Given the description of an element on the screen output the (x, y) to click on. 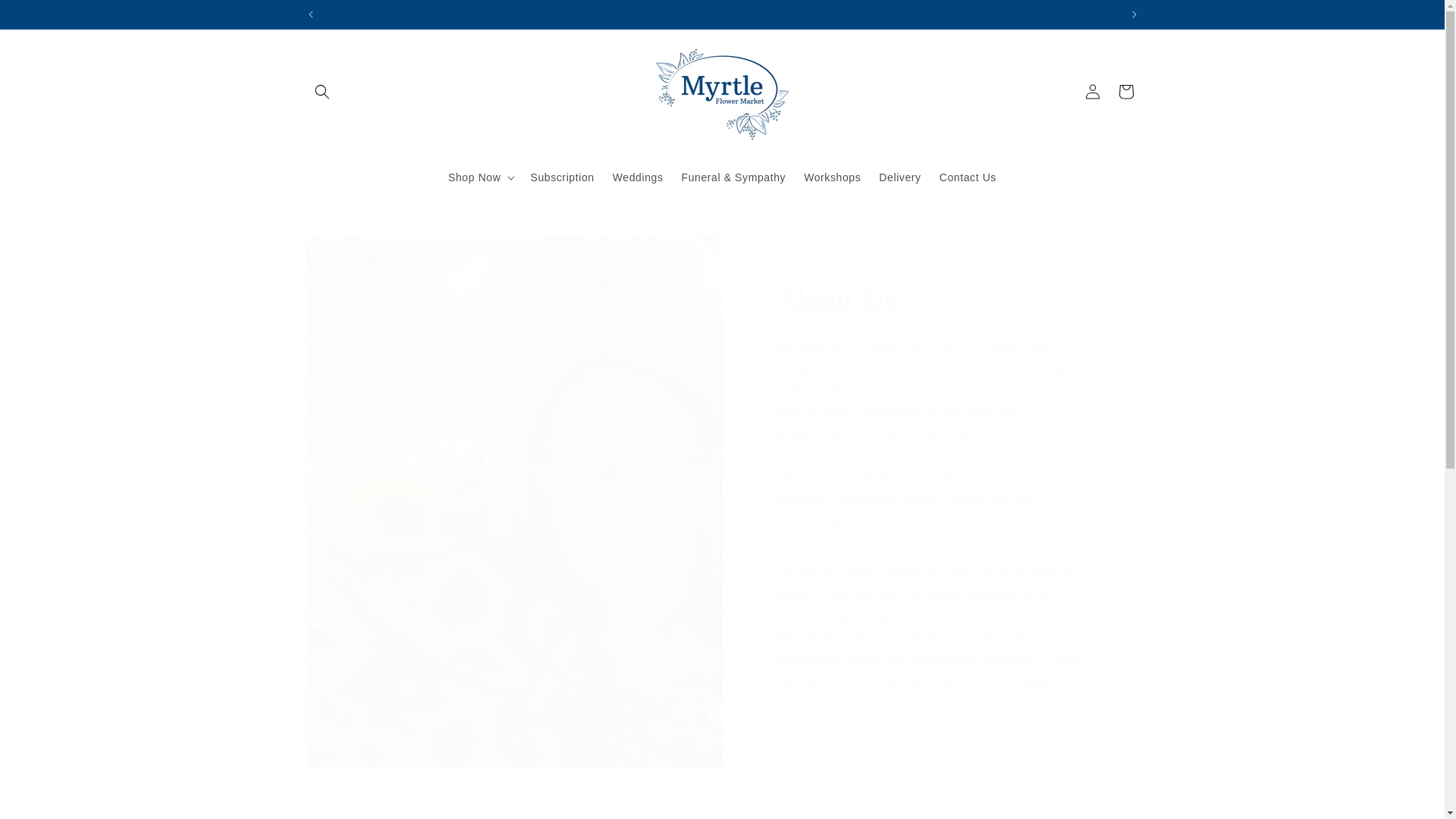
Workshops (831, 176)
Weddings (638, 176)
Skip to content (45, 17)
Subscription (561, 176)
Cart (1124, 90)
Log in (1091, 90)
Delivery (899, 176)
Contact Us (968, 176)
